Given the description of an element on the screen output the (x, y) to click on. 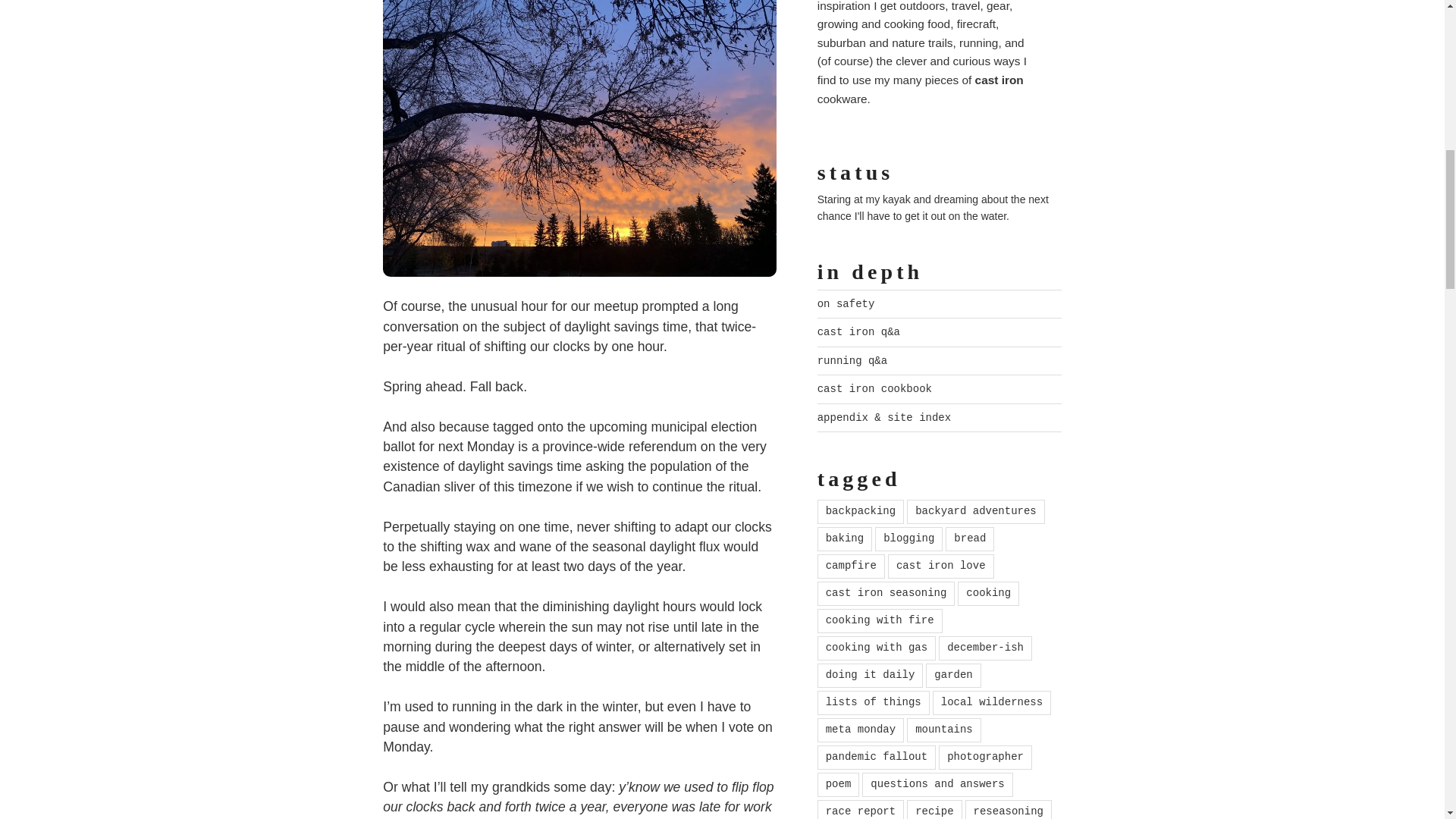
poem (838, 784)
questions and answers (936, 784)
backyard adventures (976, 511)
cooking with fire (879, 621)
cast iron seasoning (885, 593)
on safety (845, 304)
bread (969, 539)
cooking (988, 593)
reseasoning (1008, 809)
cast iron cookbook (873, 388)
